Given the description of an element on the screen output the (x, y) to click on. 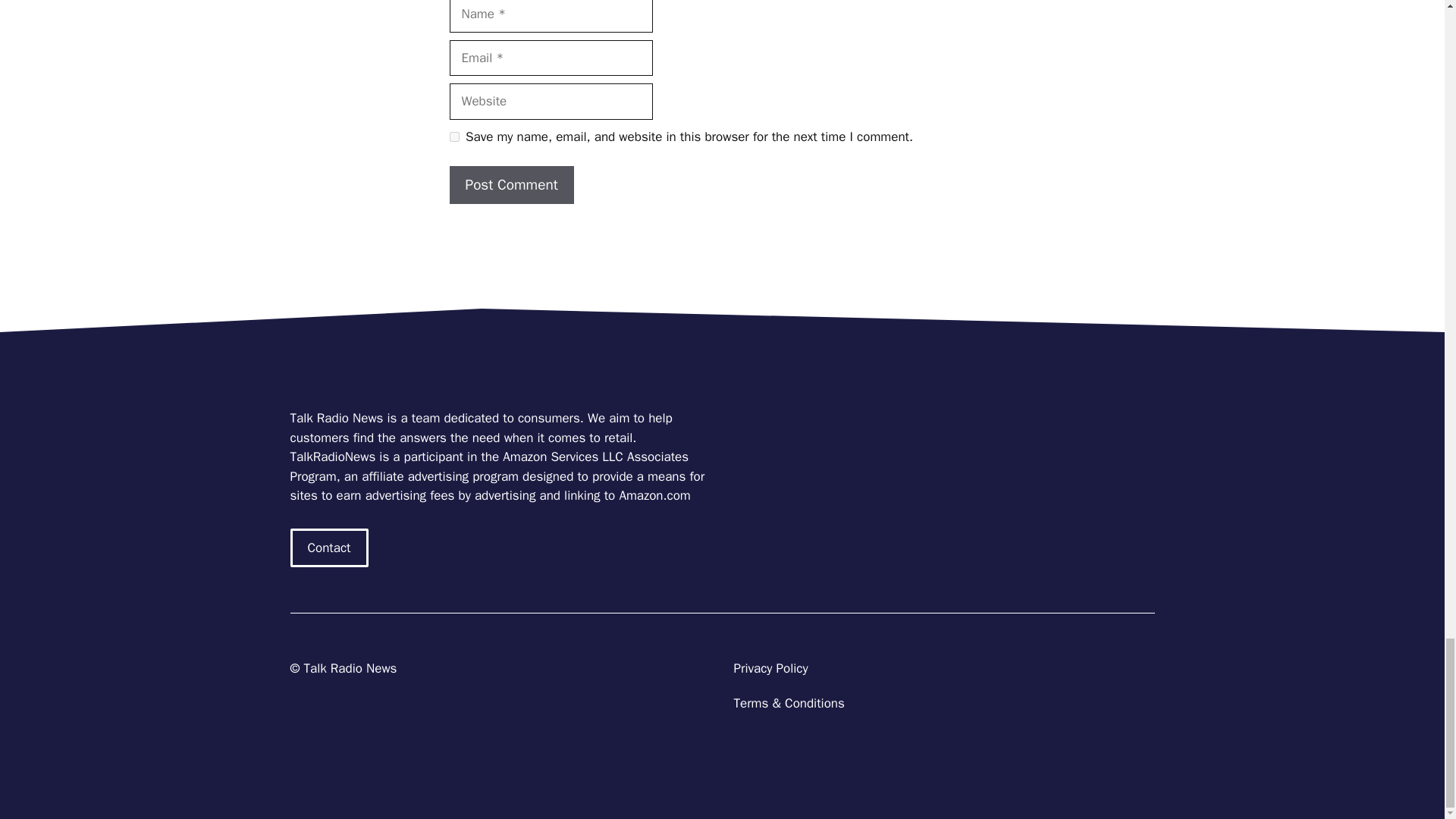
Post Comment (510, 185)
Privacy Policy (770, 668)
Contact (328, 548)
Post Comment (510, 185)
yes (453, 136)
